Given the description of an element on the screen output the (x, y) to click on. 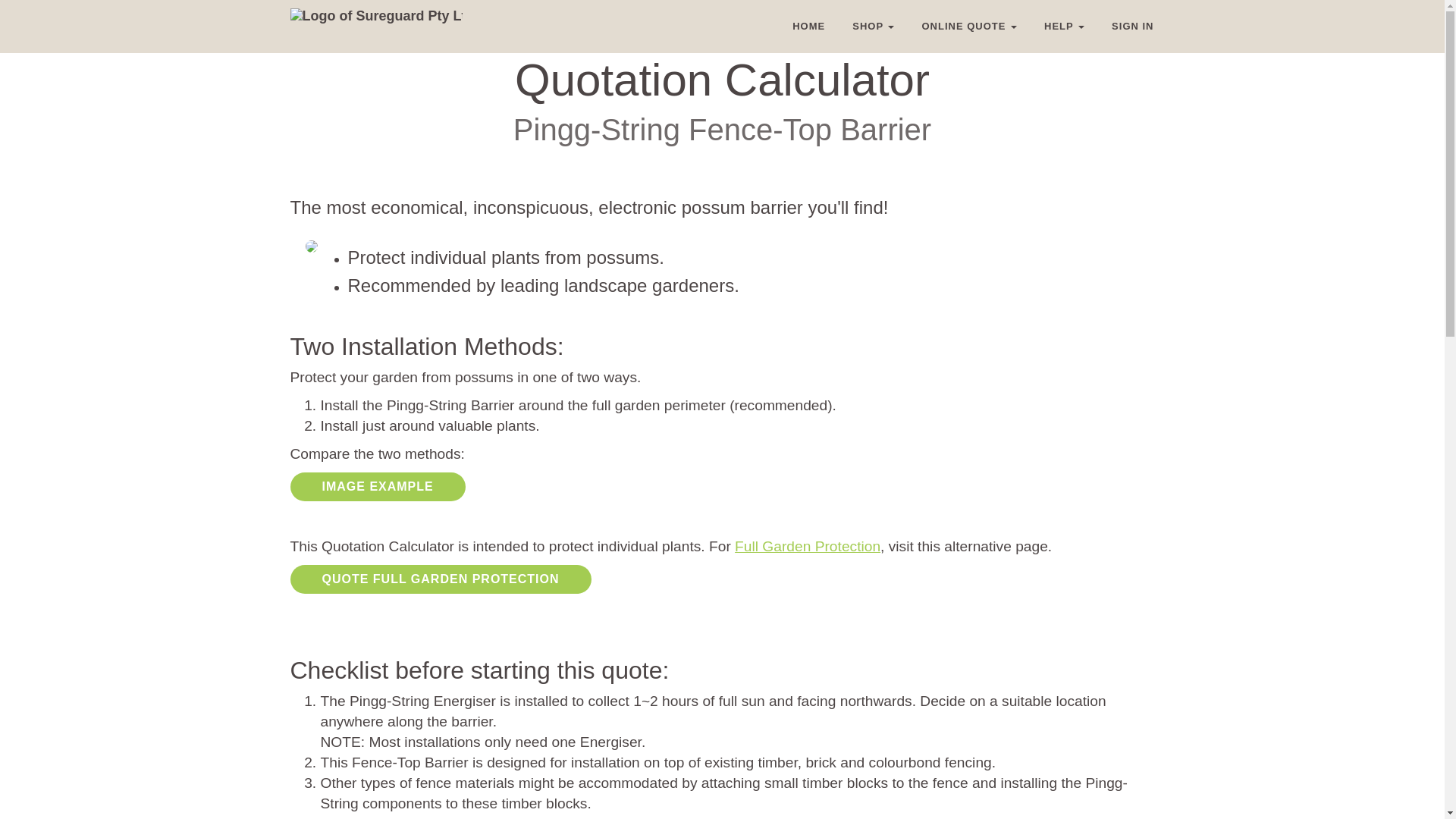
Sureguard Pty Ltd (375, 15)
HOME (808, 26)
SIGN IN (1132, 26)
HELP (1064, 26)
SHOP (872, 26)
ONLINE QUOTE (968, 26)
